Given the description of an element on the screen output the (x, y) to click on. 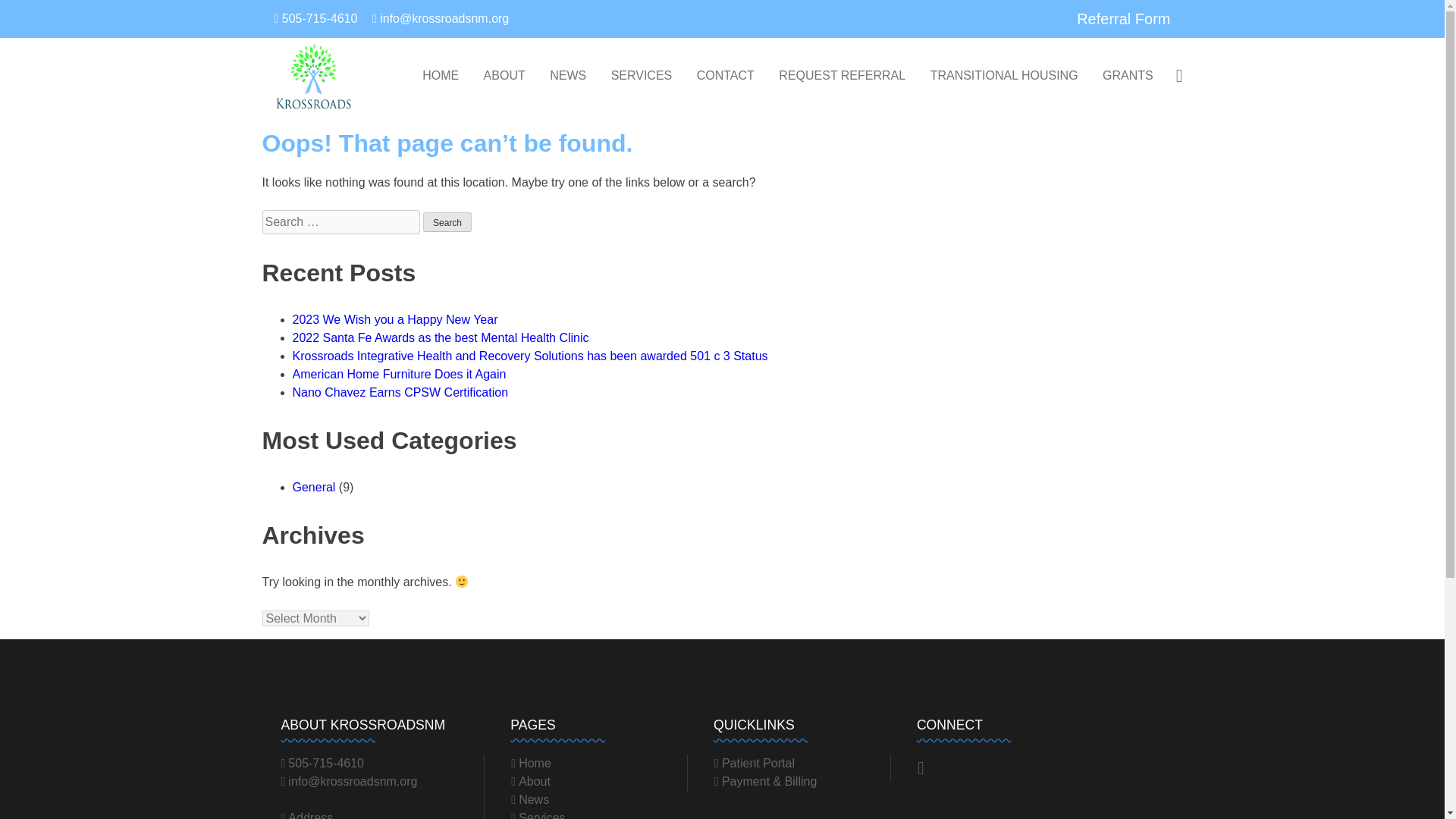
REQUEST REFERRAL (841, 75)
Search (447, 221)
News (529, 799)
Home (531, 762)
HOME (440, 75)
Referral Form (1123, 18)
call (316, 18)
American Home Furniture Does it Again (399, 373)
Search (447, 221)
CONTACT (725, 75)
TRANSITIONAL HOUSING (1004, 75)
SERVICES (641, 75)
GRANTS (1127, 75)
Referral Form (1123, 18)
